Given the description of an element on the screen output the (x, y) to click on. 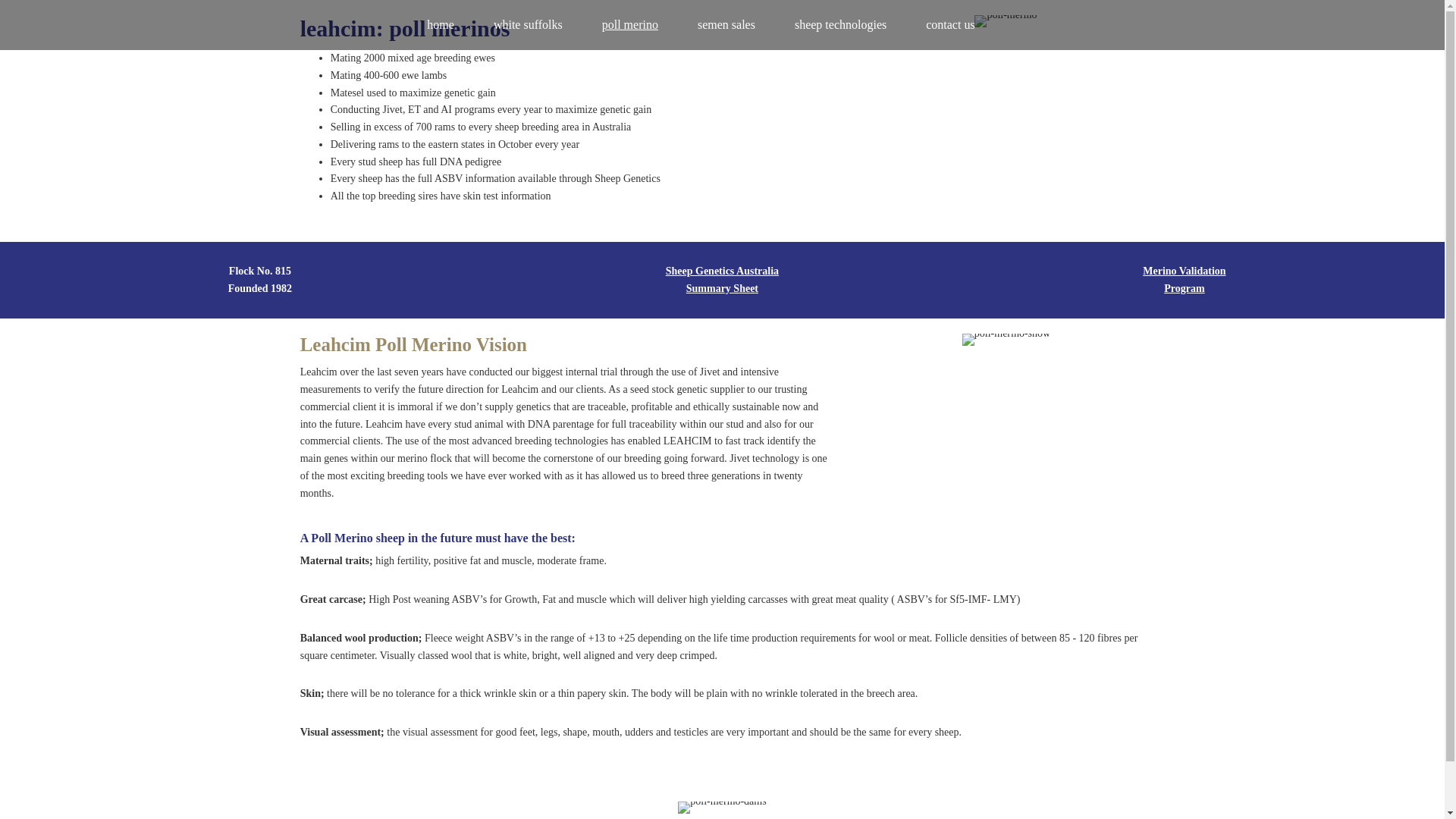
sheep technologies Element type: text (840, 25)
Merino Validation
Program Element type: text (1183, 279)
poll-merino-show Element type: hover (1006, 339)
home Element type: text (440, 25)
contact us Element type: text (949, 25)
poll merino Element type: text (629, 25)
Sheep Genetics Australia
Summary Sheet Element type: text (721, 279)
semen sales Element type: text (726, 25)
white suffolks Element type: text (527, 25)
poll-merino-dams Element type: hover (721, 807)
facebook Element type: text (1014, 26)
poll-merino Element type: hover (1005, 21)
